Given the description of an element on the screen output the (x, y) to click on. 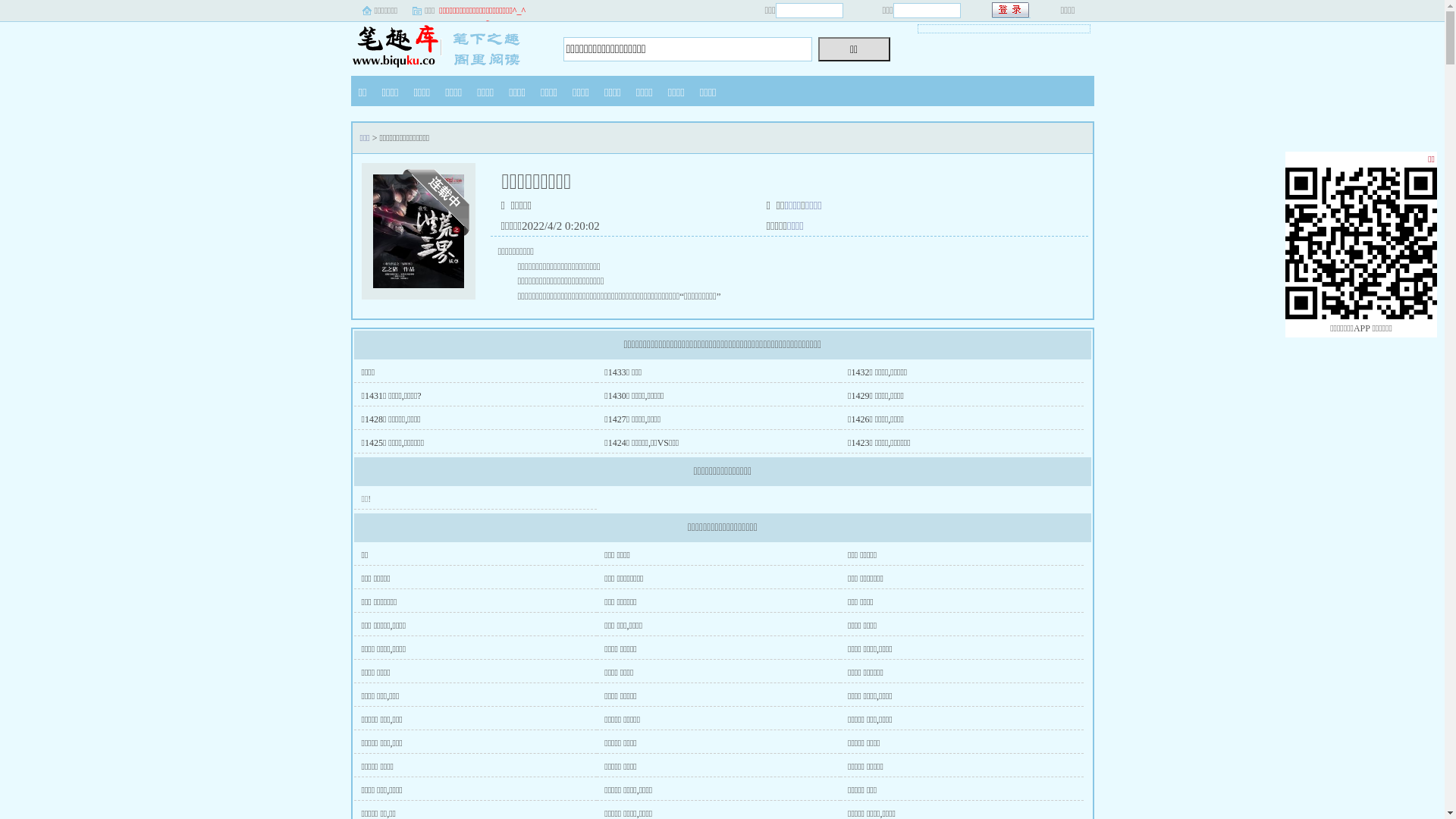
  Element type: text (1010, 10)
